Given the description of an element on the screen output the (x, y) to click on. 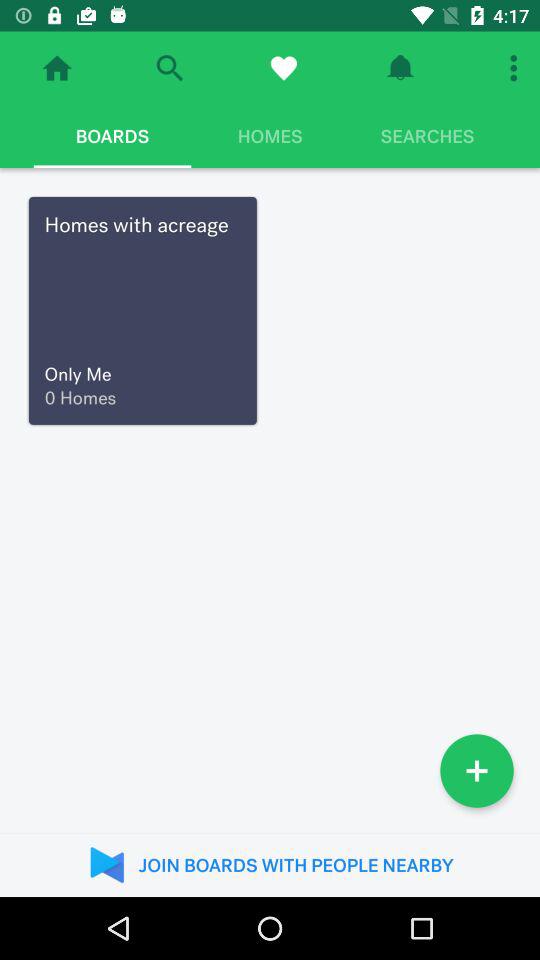
scroll to the join boards with (269, 864)
